Given the description of an element on the screen output the (x, y) to click on. 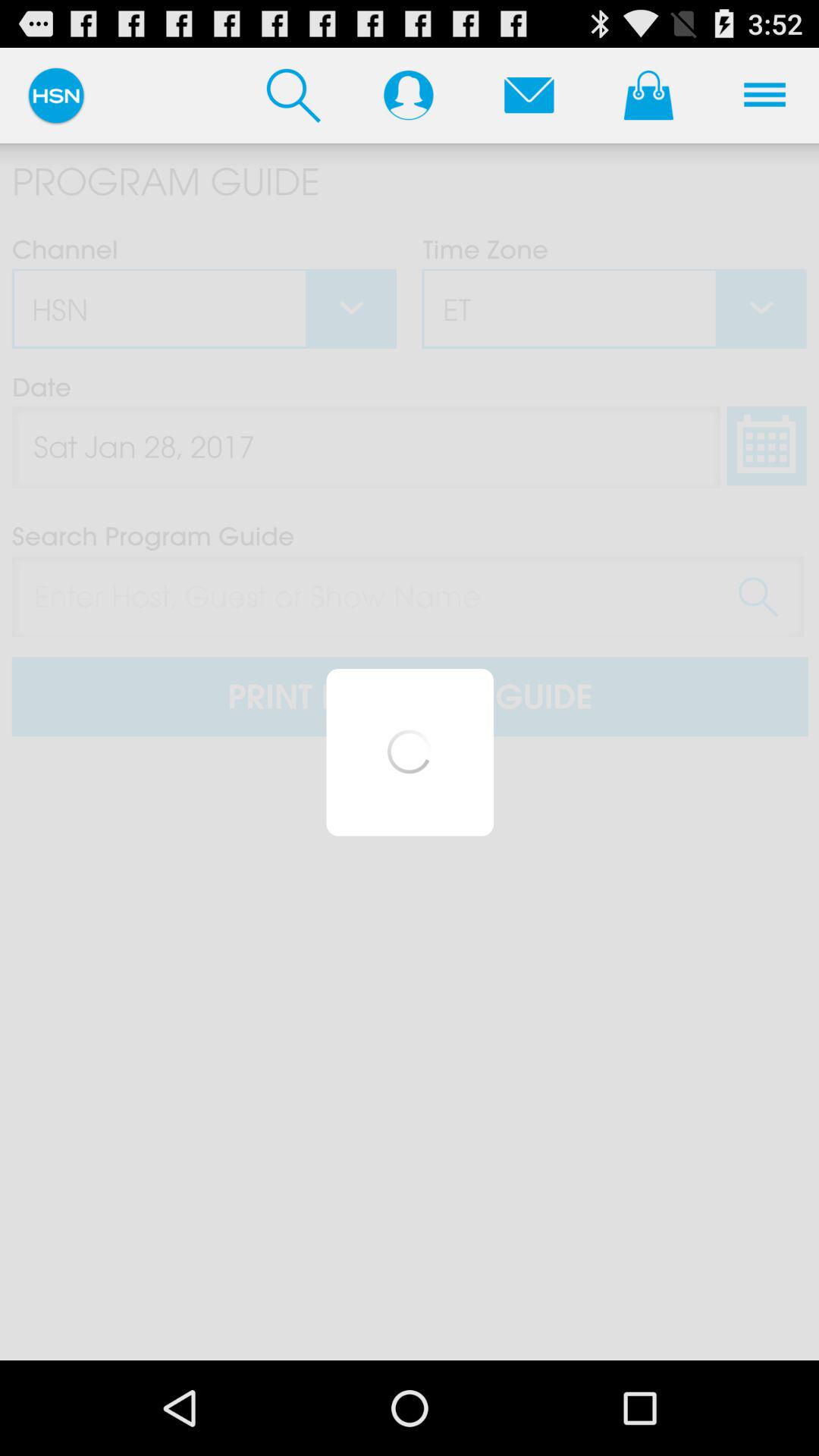
view mail (529, 95)
